Given the description of an element on the screen output the (x, y) to click on. 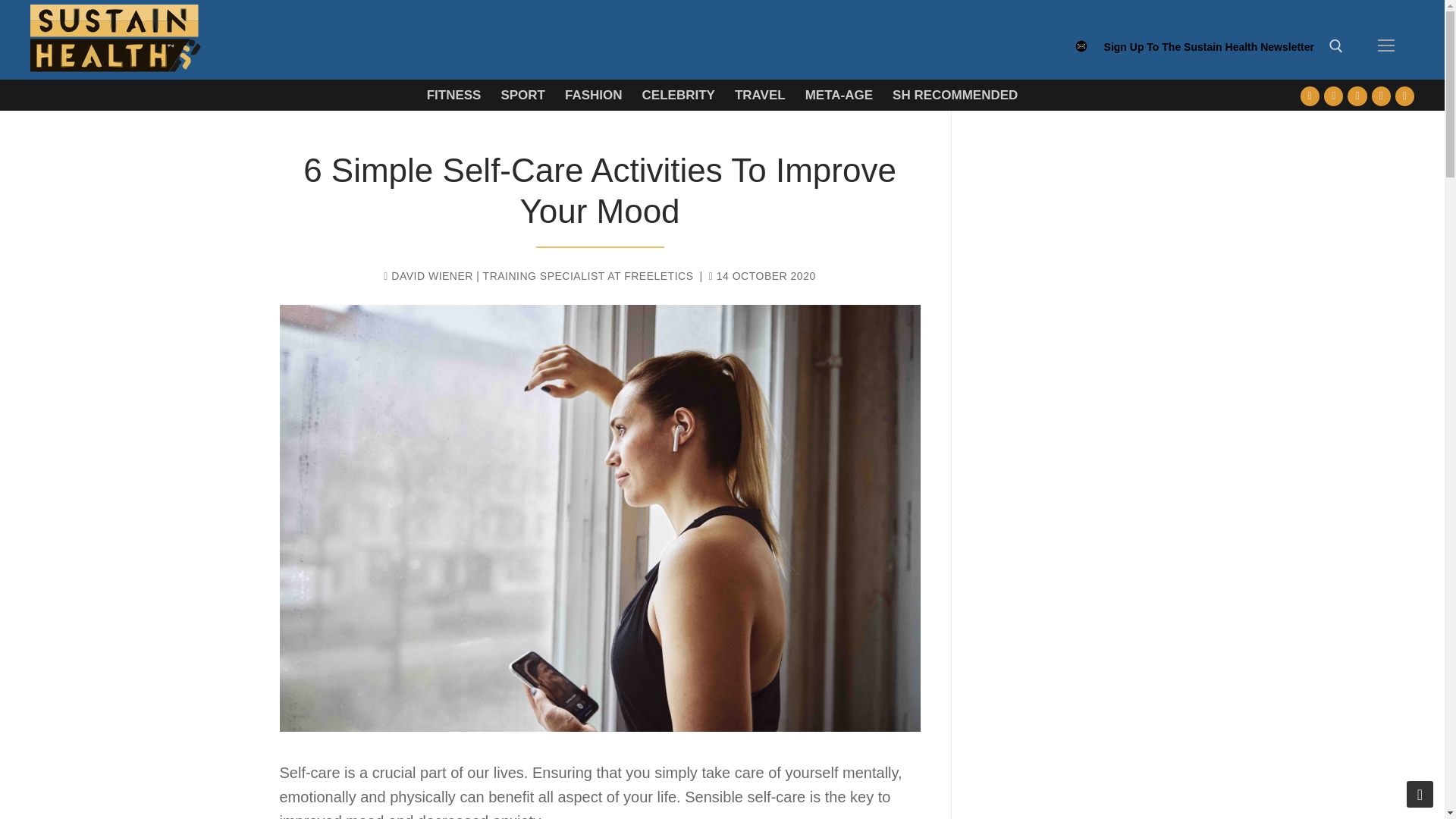
CELEBRITY (678, 94)
Youtube (1357, 95)
META-AGE (838, 94)
Sign Up To The Sustain Health Newsletter (1208, 53)
Pinterest (1404, 95)
Twitter (1333, 95)
TRAVEL (759, 94)
Facebook (1310, 95)
Instagram (1380, 95)
SH RECOMMENDED (954, 94)
